Given the description of an element on the screen output the (x, y) to click on. 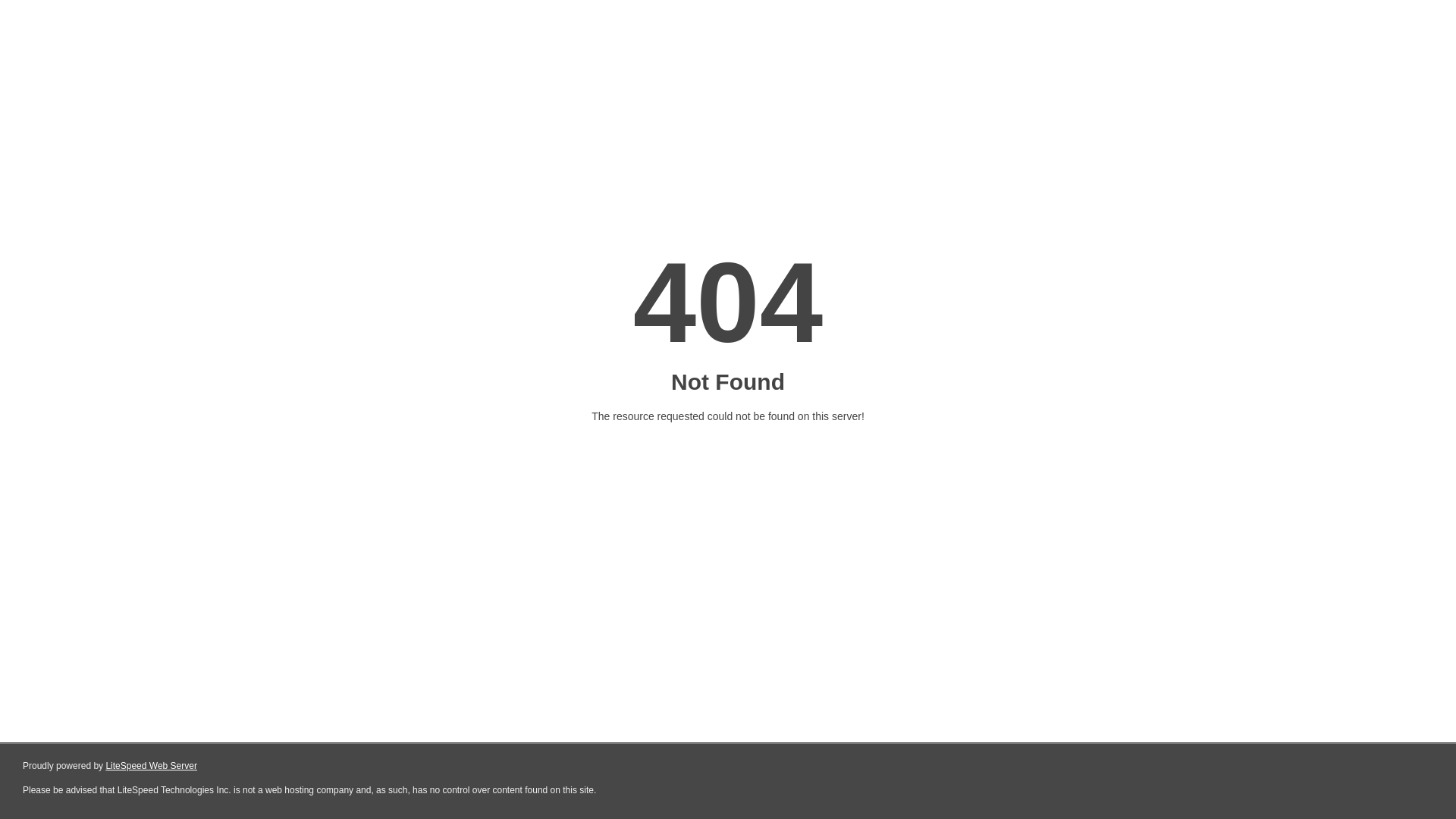
LiteSpeed Web Server Element type: text (151, 765)
